Given the description of an element on the screen output the (x, y) to click on. 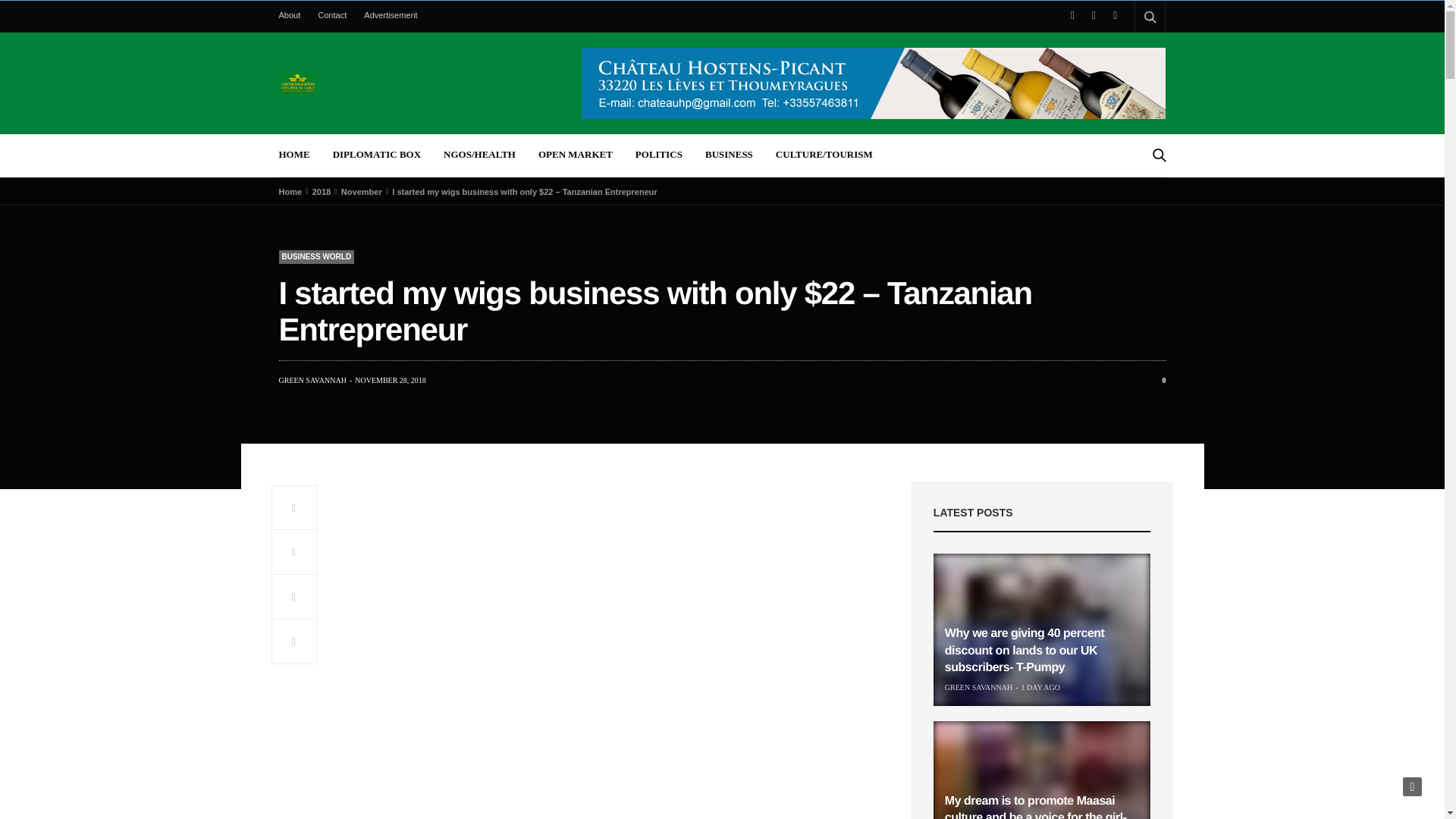
OPEN MARKET (575, 154)
About (293, 15)
2018 (321, 191)
POLITICS (658, 154)
BUSINESS WORLD (317, 256)
BUSINESS (728, 154)
Search (1137, 196)
Business World (317, 256)
